Given the description of an element on the screen output the (x, y) to click on. 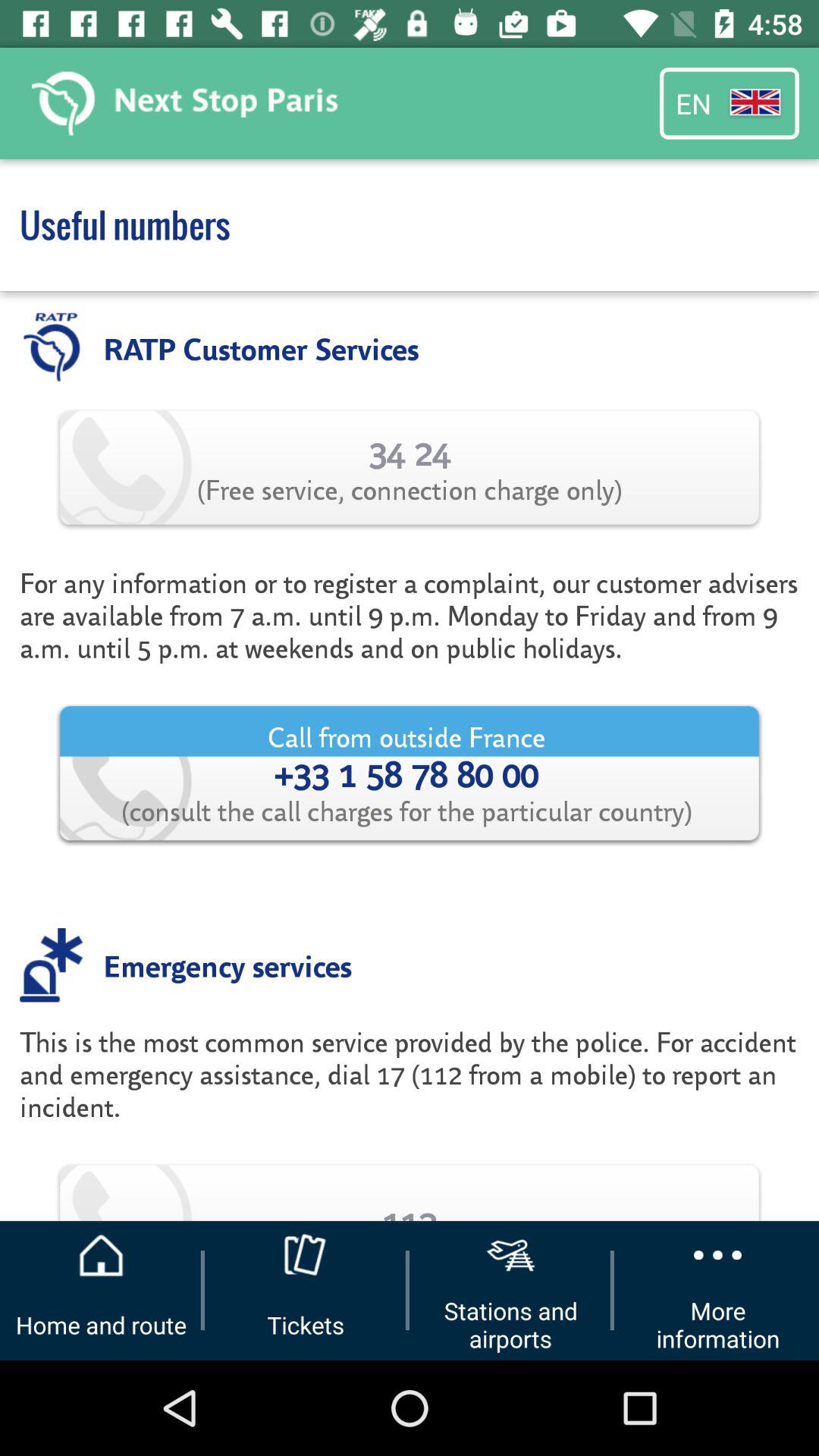
turn on the 34 24 free app (409, 467)
